Given the description of an element on the screen output the (x, y) to click on. 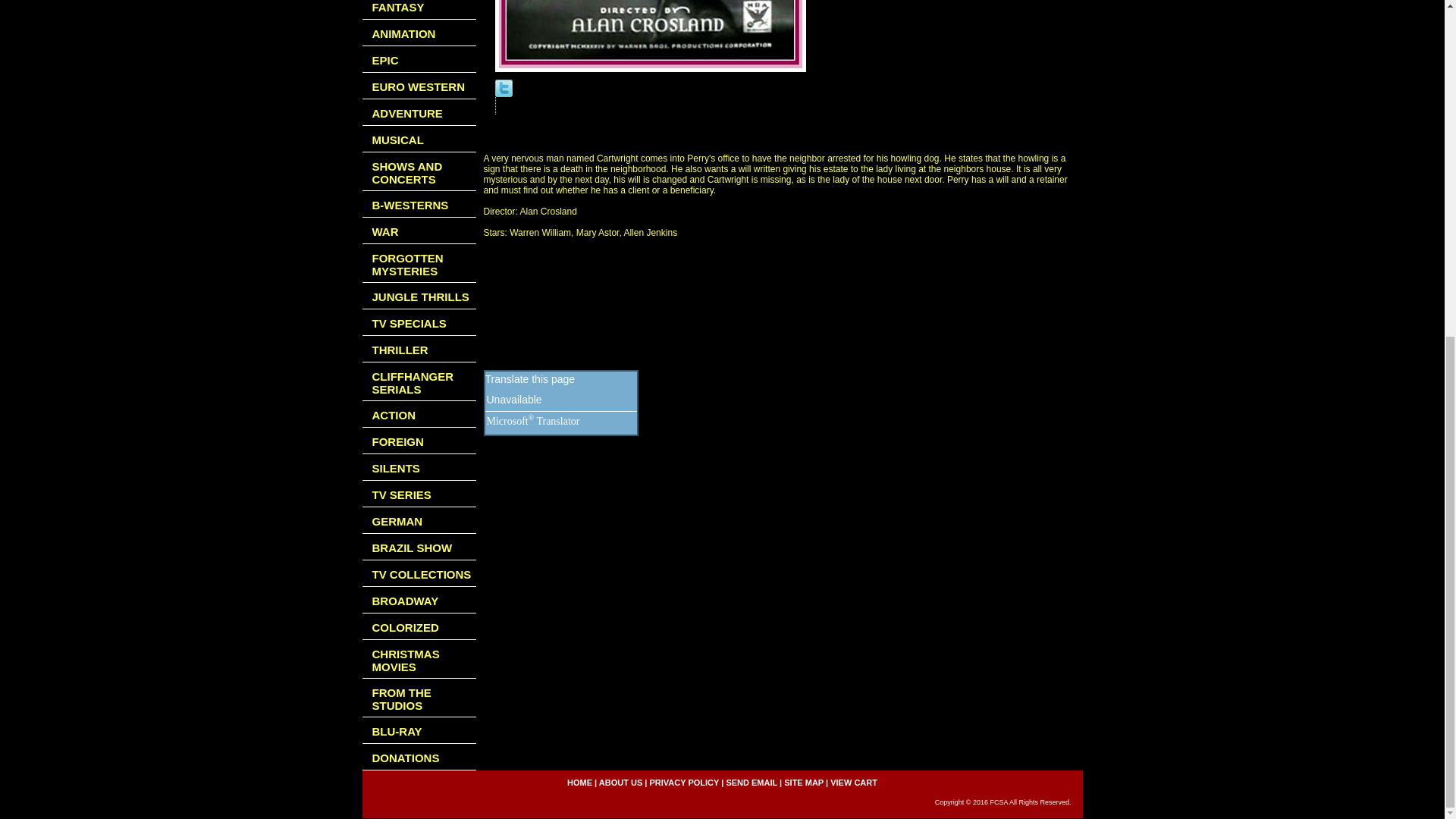
SHOWS AND CONCERTS (419, 171)
ANIMATION (419, 32)
WAR (419, 230)
EPIC (419, 58)
EURO WESTERN (419, 85)
MUSICAL (419, 139)
ANIMATION (419, 32)
FANTASY (419, 9)
ACTION (419, 414)
FORGOTTEN MYSTERIES (419, 263)
JUNGLE THRILLS (419, 295)
B-WESTERNS (419, 203)
ADVENTURE (419, 112)
Unavailable (513, 400)
SILENTS (419, 467)
